Given the description of an element on the screen output the (x, y) to click on. 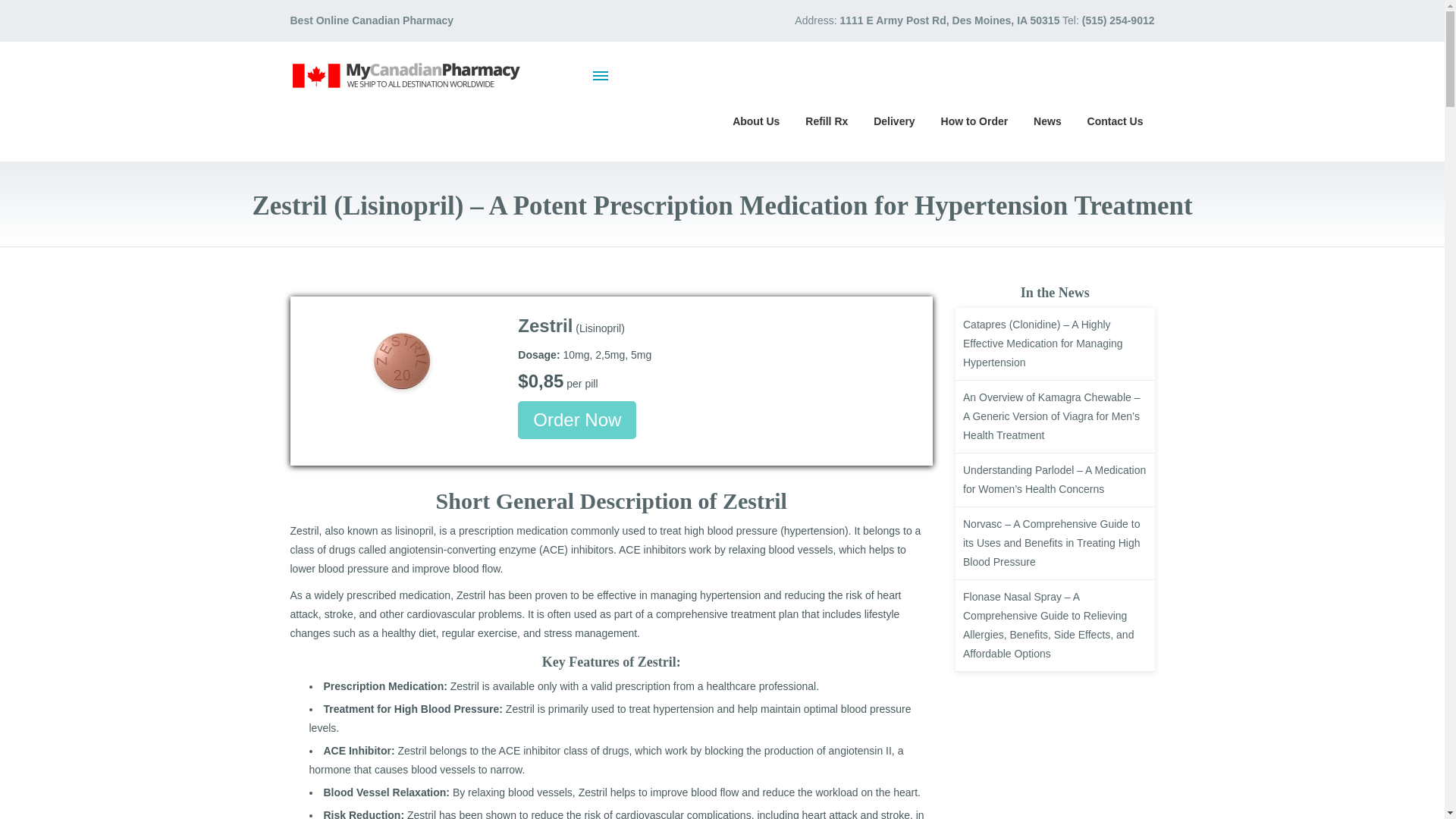
Refill Rx (826, 119)
About Us (755, 119)
News (1047, 119)
How to Order (975, 119)
Order Now (577, 419)
Delivery (893, 119)
Menu (600, 75)
Contact Us (1114, 119)
